Given the description of an element on the screen output the (x, y) to click on. 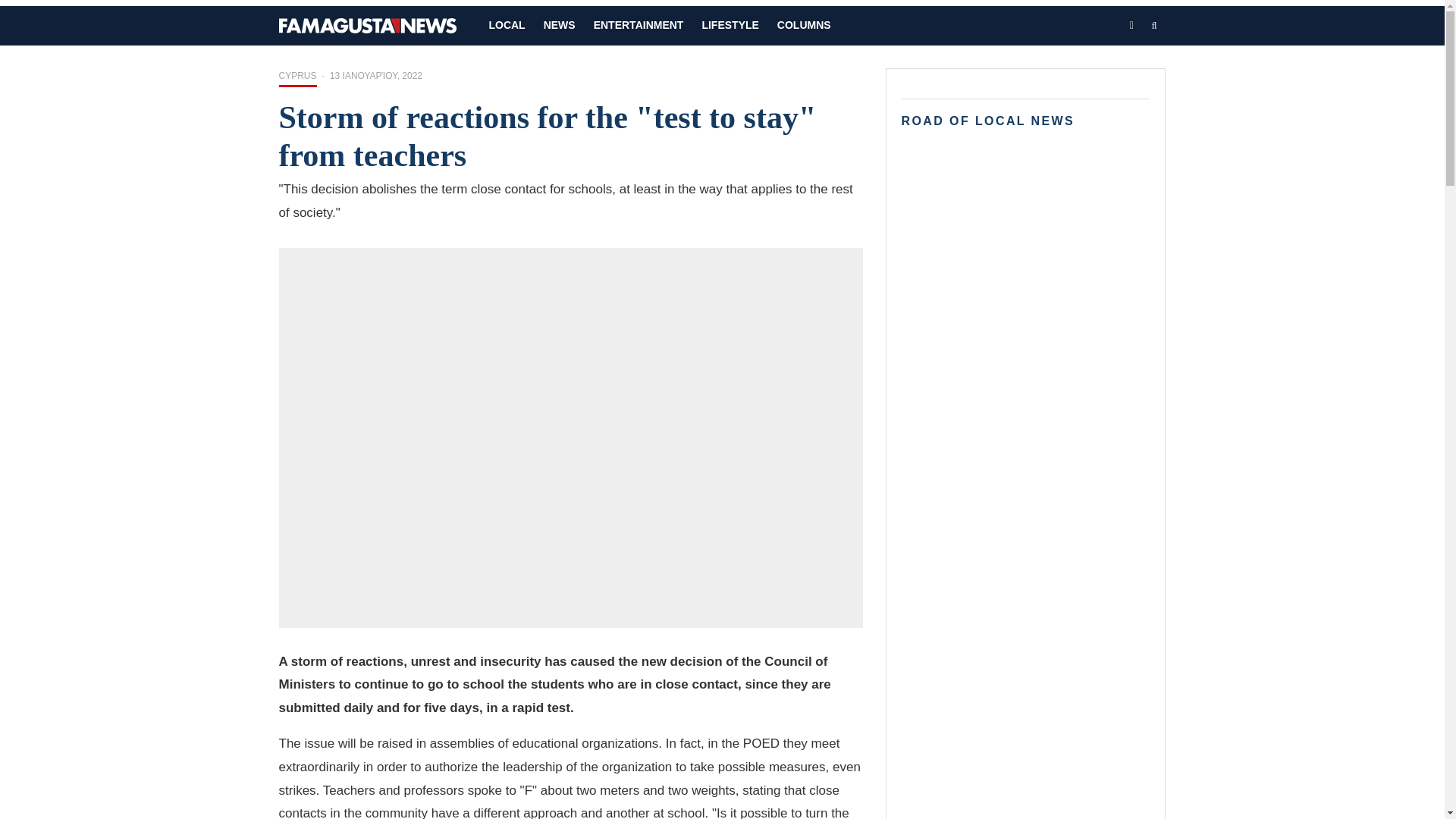
LIFESTYLE (730, 25)
NEWS (559, 25)
ENTERTAINMENT (639, 25)
LOCAL (506, 25)
